Given the description of an element on the screen output the (x, y) to click on. 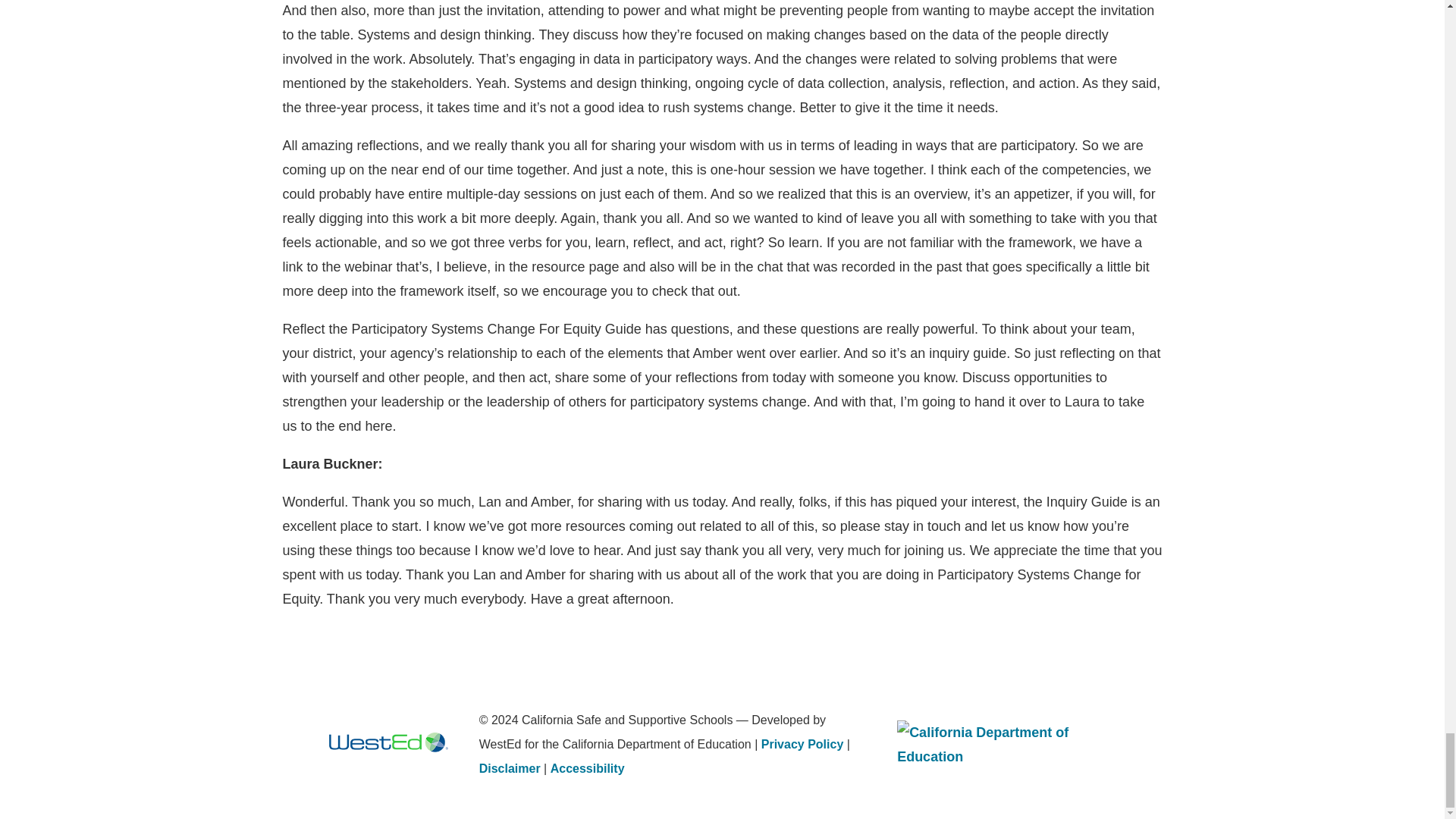
Disclaimer (509, 768)
Privacy Policy (802, 744)
Accessibility (587, 768)
